Given the description of an element on the screen output the (x, y) to click on. 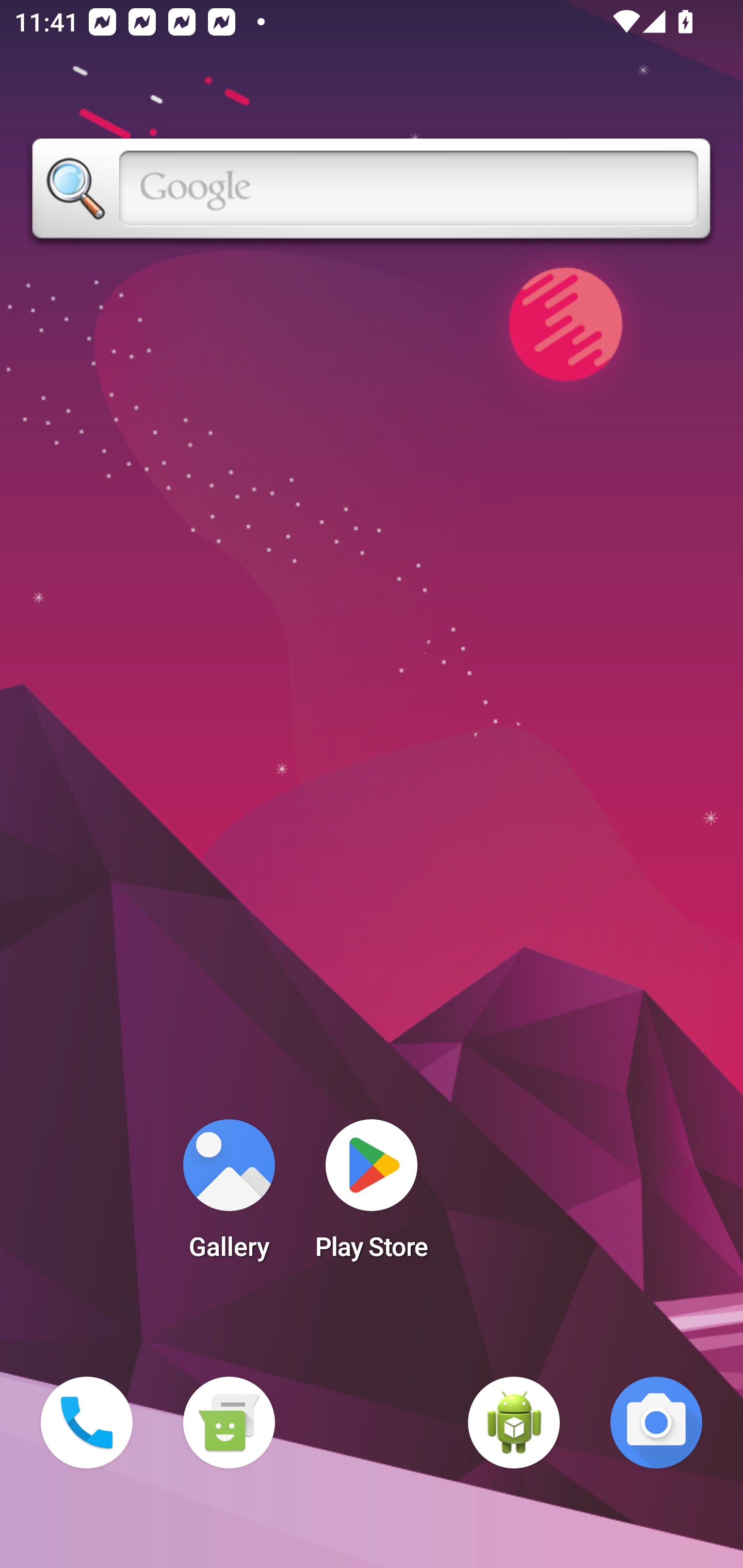
Gallery (228, 1195)
Play Store (371, 1195)
Phone (86, 1422)
Messaging (228, 1422)
WebView Browser Tester (513, 1422)
Camera (656, 1422)
